Given the description of an element on the screen output the (x, y) to click on. 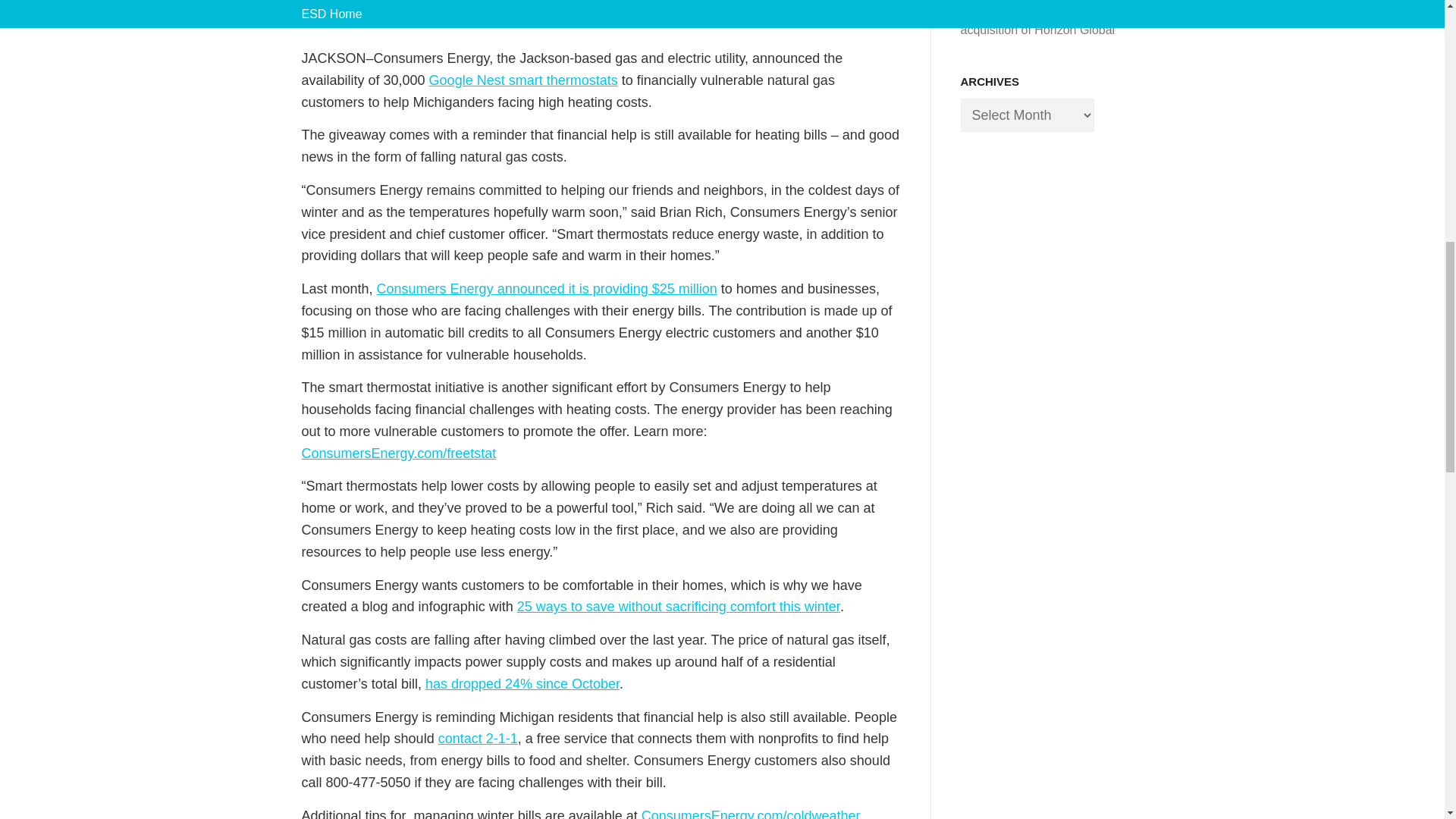
contact 2-1-1 (478, 738)
25 ways to save without sacrificing comfort this winter (678, 606)
Google Nest smart thermostats (523, 79)
